Given the description of an element on the screen output the (x, y) to click on. 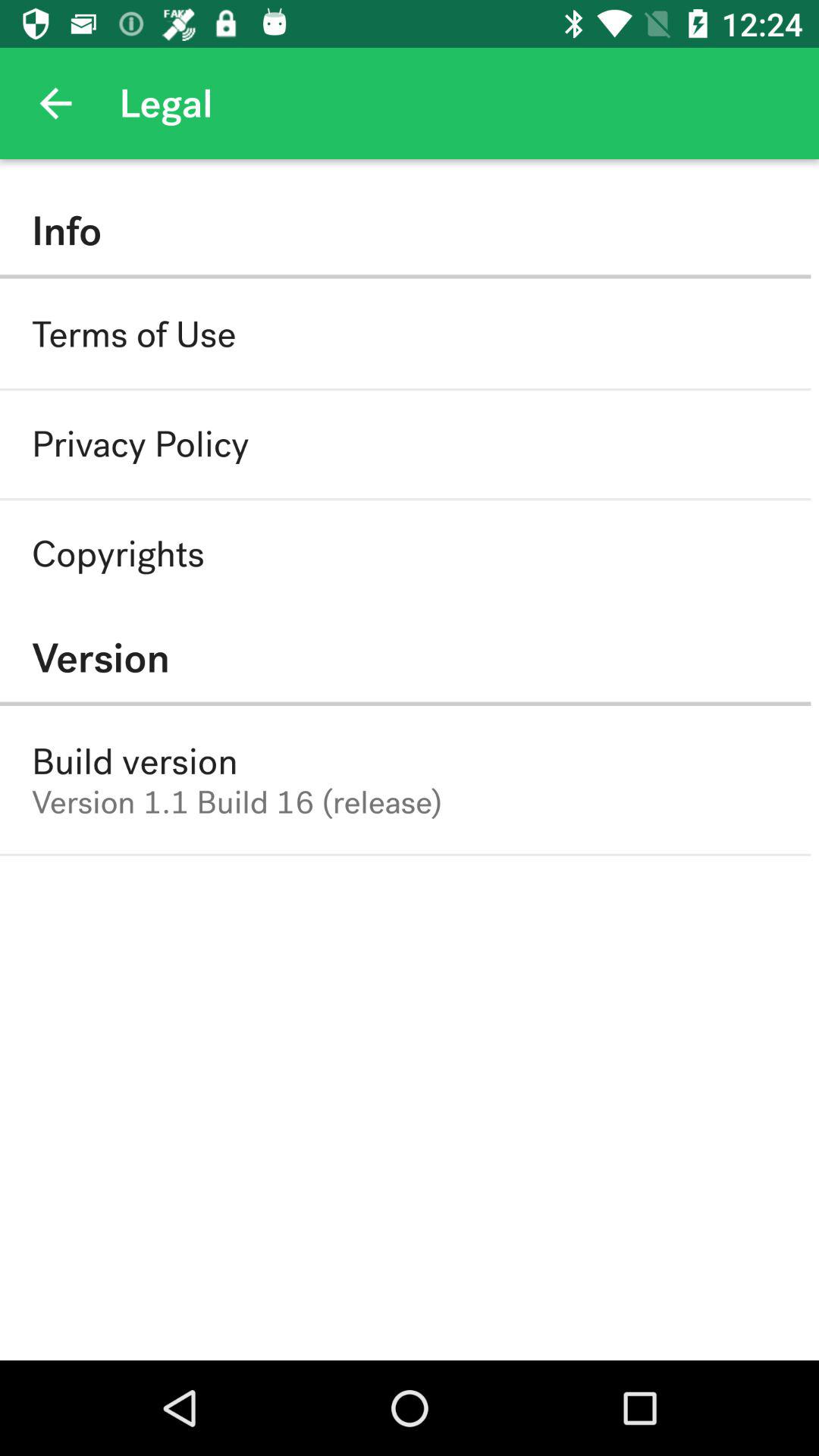
click the terms of use (133, 334)
